Given the description of an element on the screen output the (x, y) to click on. 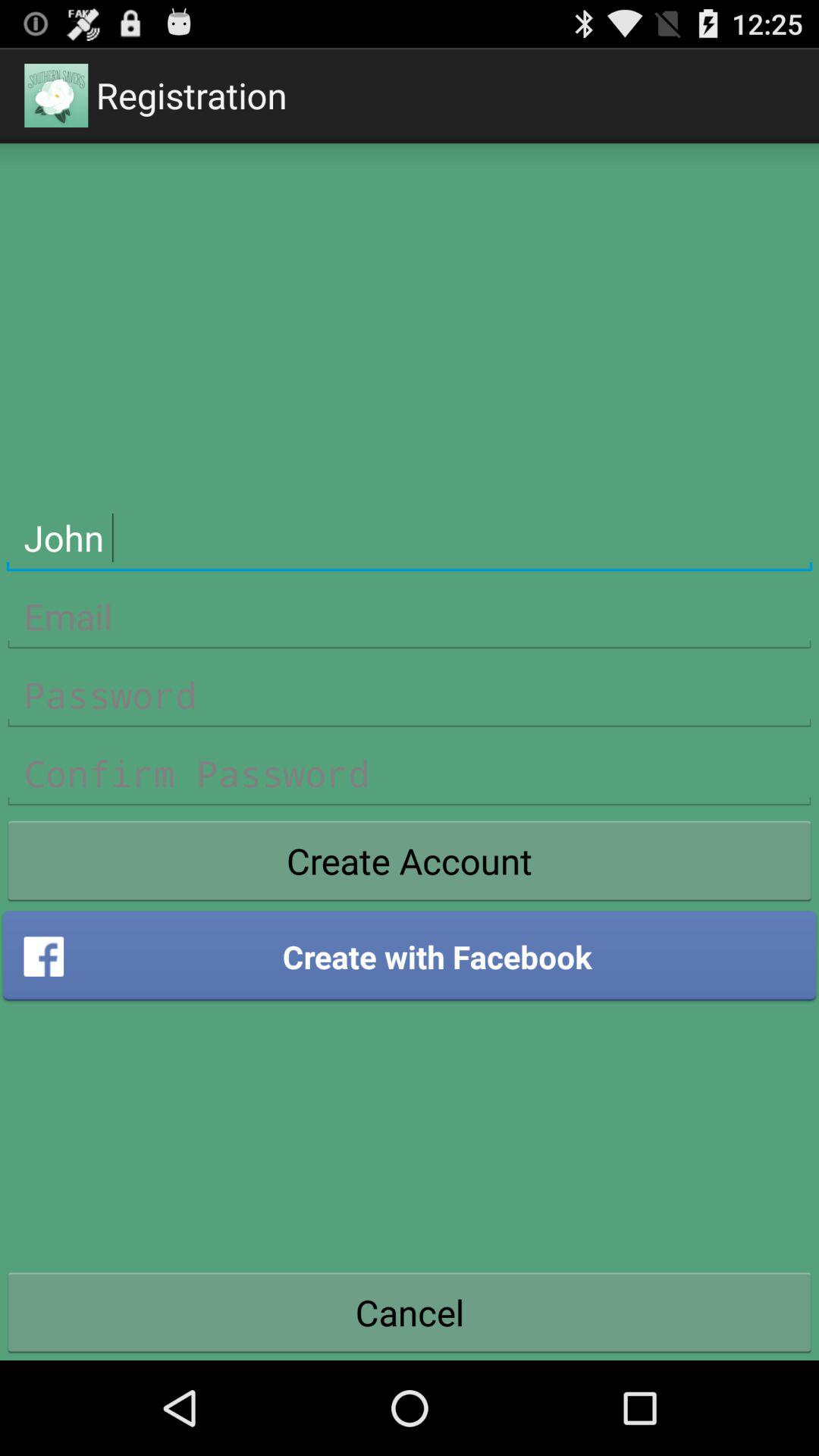
type confirmed password (409, 773)
